Given the description of an element on the screen output the (x, y) to click on. 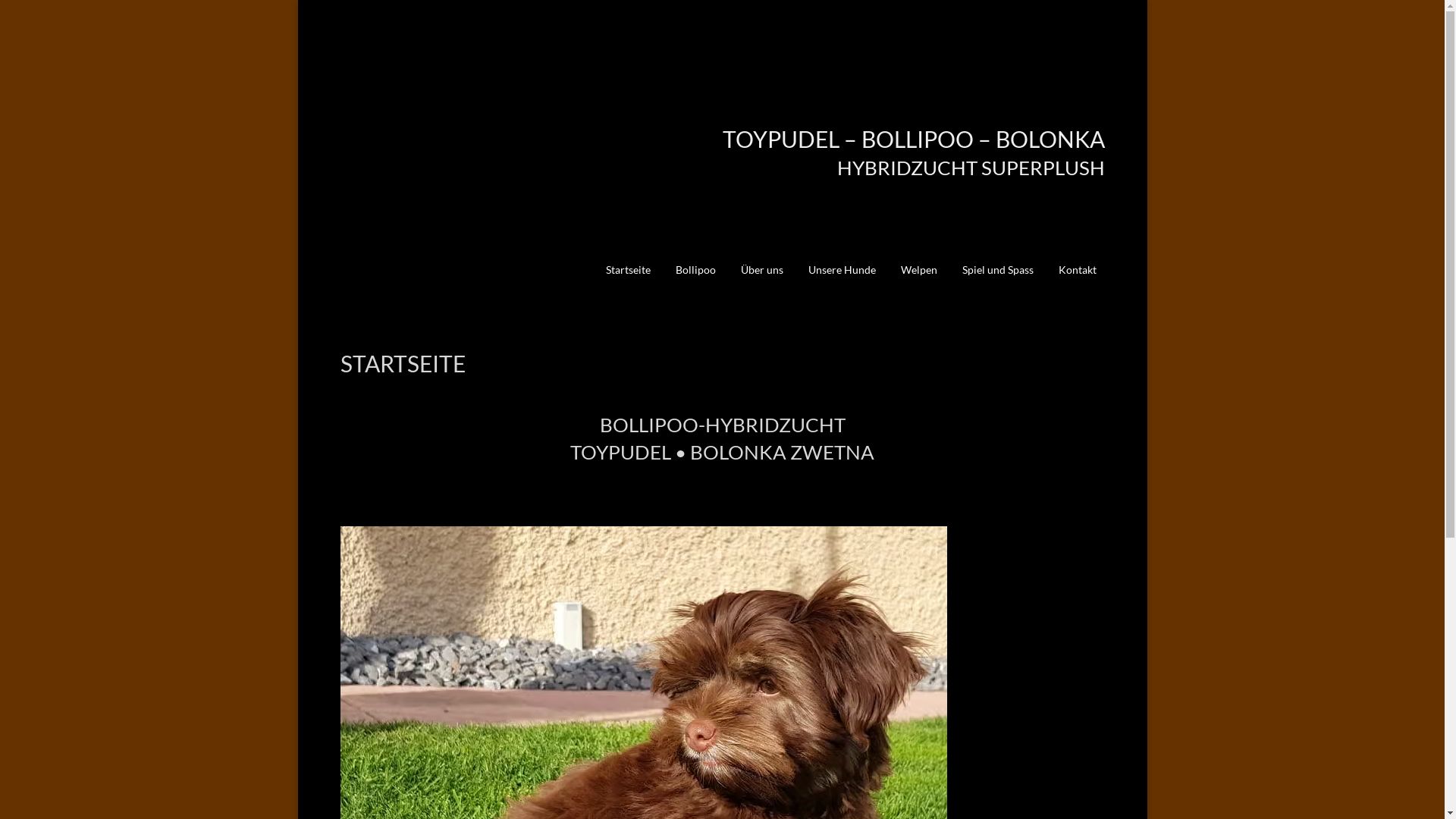
Startseite Element type: text (627, 280)
Kontakt Element type: text (1077, 280)
Unsere Hunde Element type: text (841, 280)
Bollipoo Element type: text (694, 280)
Spiel und Spass Element type: text (996, 280)
Welpen Element type: text (918, 280)
